Given the description of an element on the screen output the (x, y) to click on. 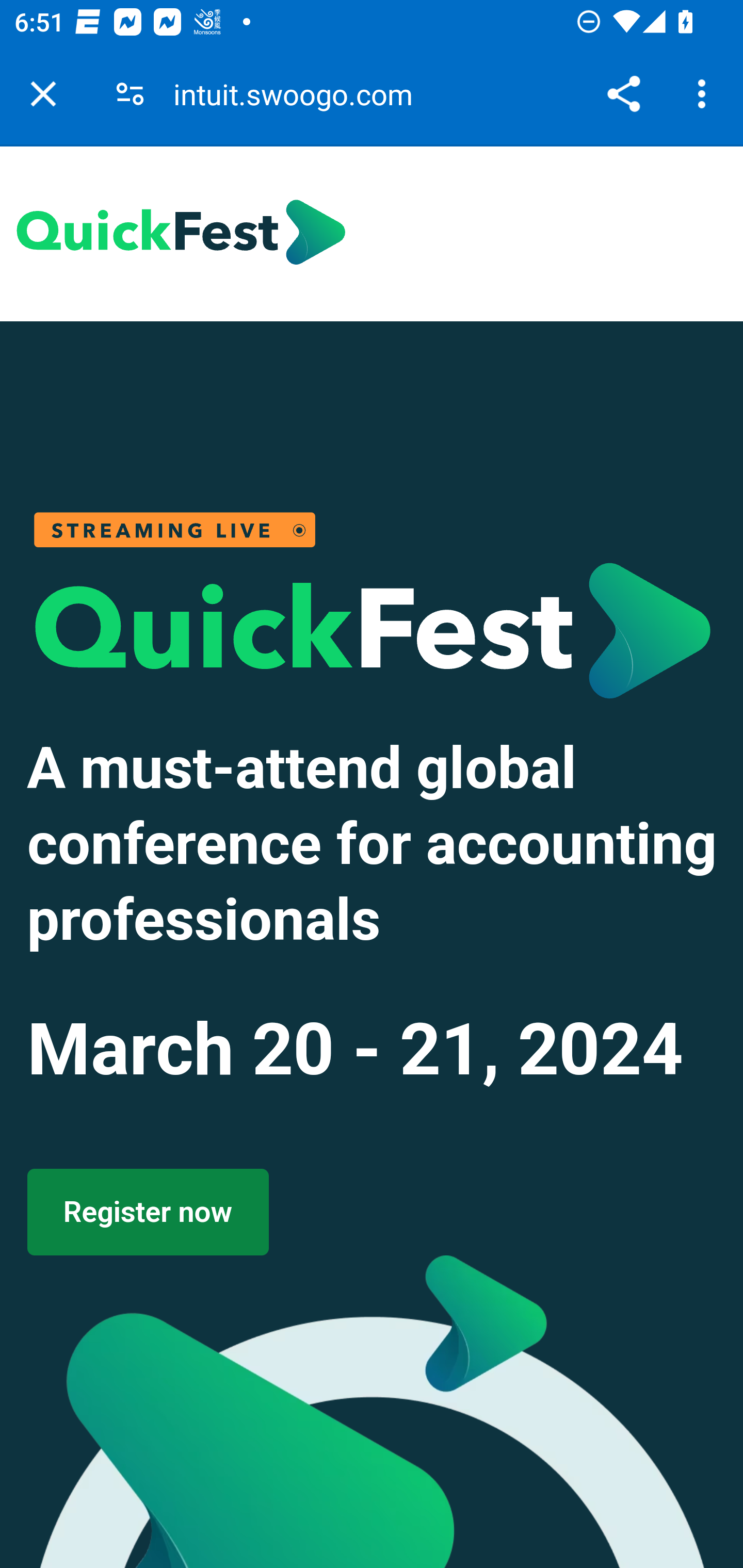
Close tab (43, 93)
Share (623, 93)
Customize and control Google Chrome (705, 93)
Connection is secure (129, 93)
intuit.swoogo.com (300, 93)
QuickFest 2024 (181, 232)
Register now (146, 1211)
